Given the description of an element on the screen output the (x, y) to click on. 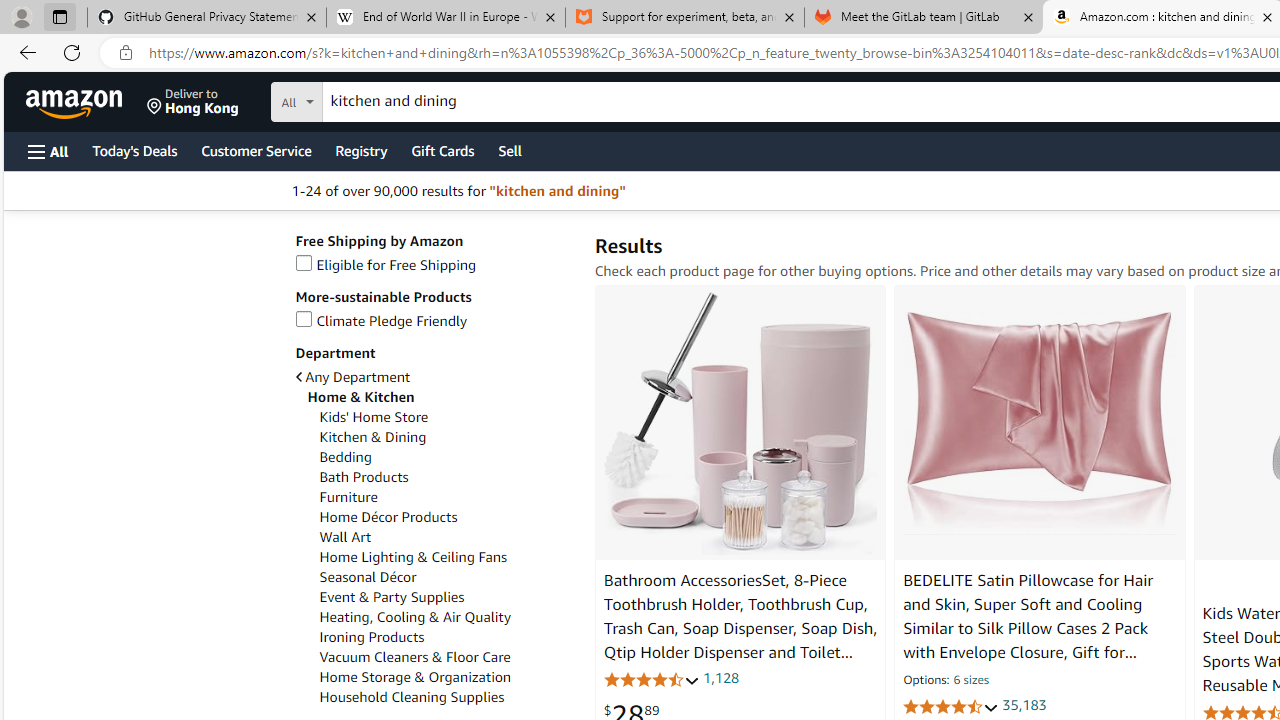
Home Lighting & Ceiling Fans (446, 556)
Meet the GitLab team | GitLab (924, 17)
Home Storage & Organization (446, 677)
Climate Pledge Friendly (434, 321)
Kitchen & Dining (446, 437)
Vacuum Cleaners & Floor Care (414, 657)
Furniture (347, 497)
Ironing Products (446, 637)
Home Storage & Organization (415, 677)
Eligible for Free Shipping (385, 264)
GitHub General Privacy Statement - GitHub Docs (207, 17)
